Given the description of an element on the screen output the (x, y) to click on. 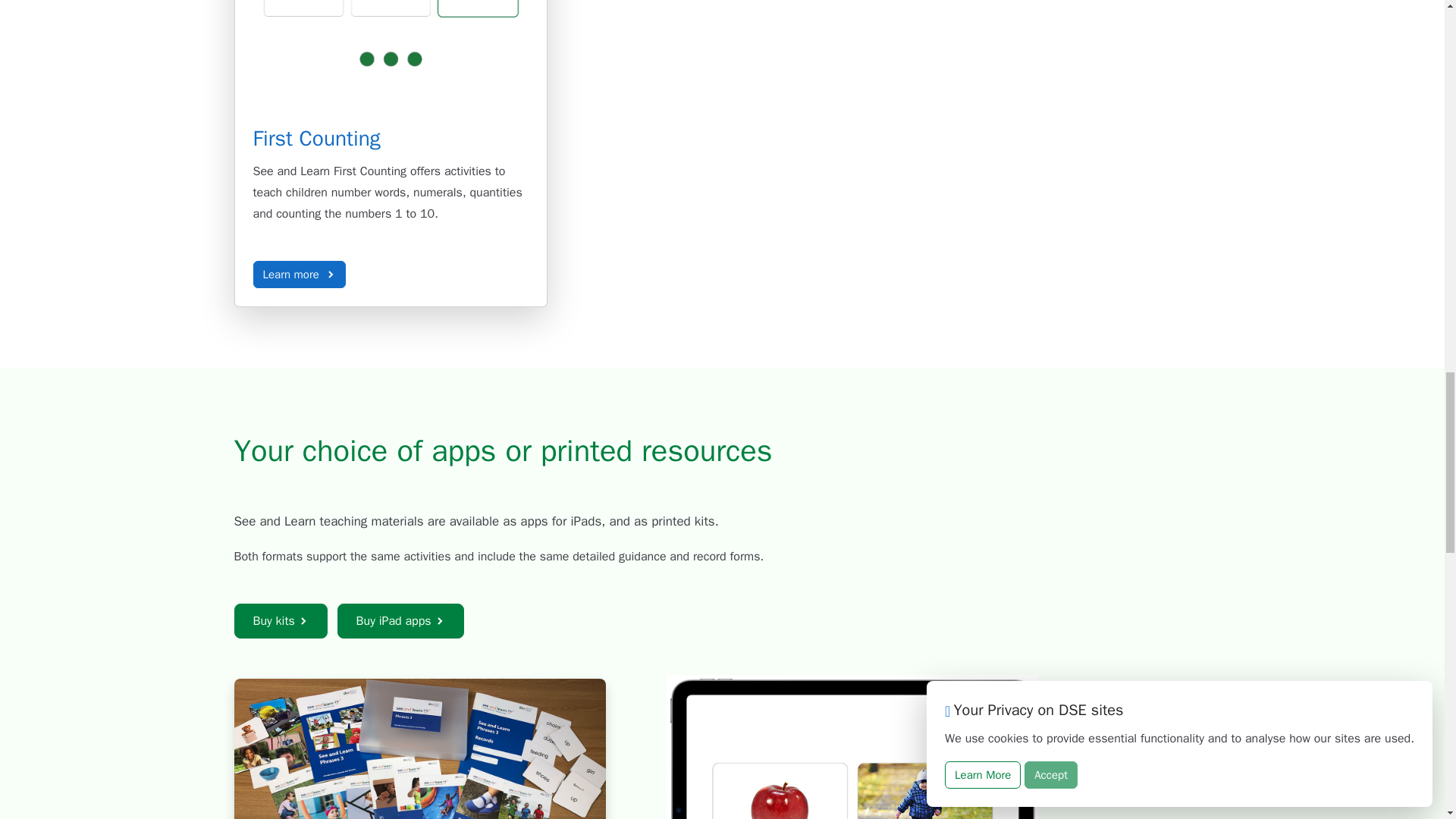
Learn more about See and Learn First Counting (316, 138)
Learn more (299, 274)
Buy kits (279, 620)
Buy iPad apps (400, 620)
First Counting (316, 138)
Learn more about See and Learn First Counting (299, 274)
